Given the description of an element on the screen output the (x, y) to click on. 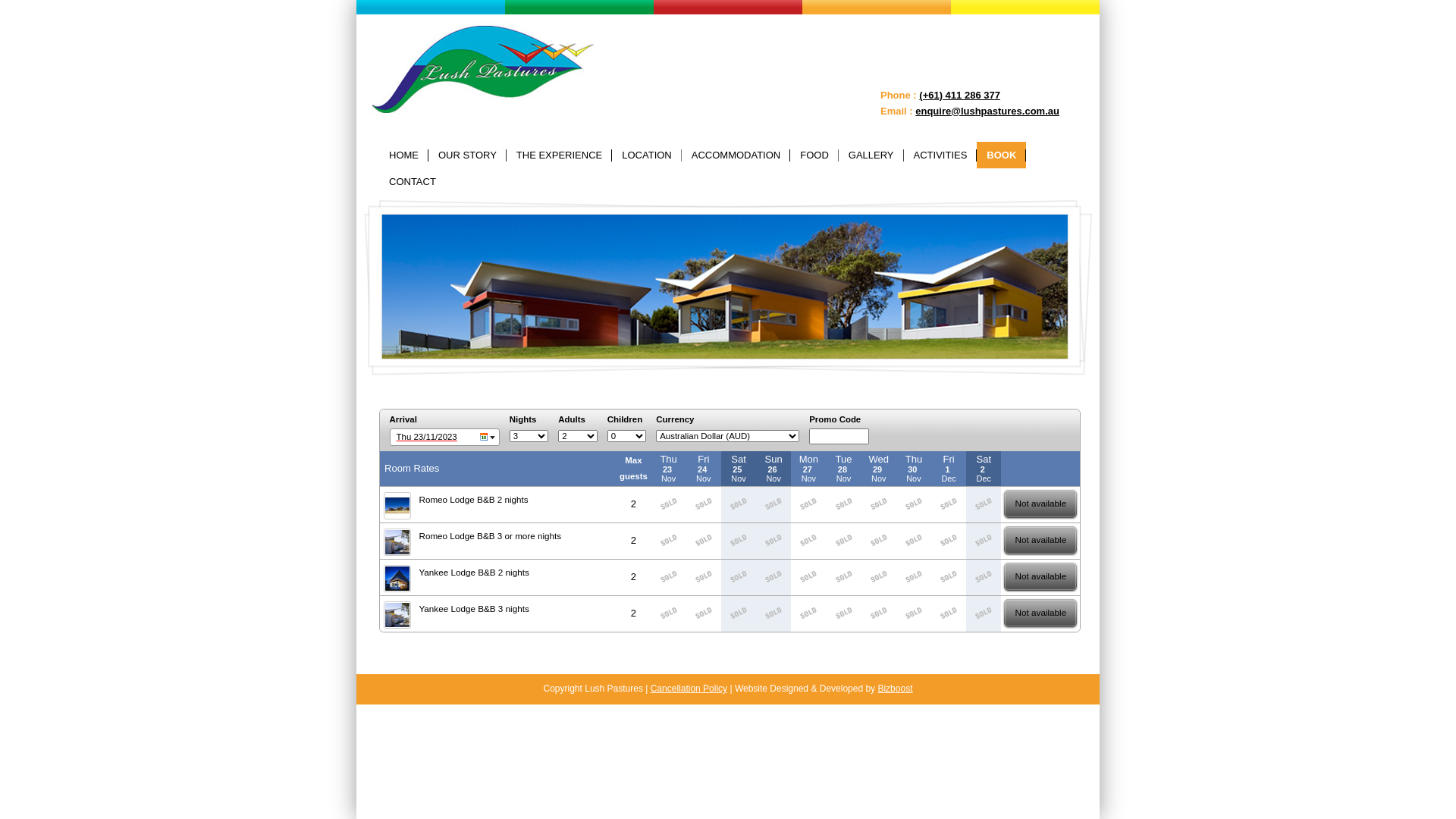
BOOK Element type: text (1001, 155)
CONTACT Element type: text (412, 181)
OUR STORY Element type: text (467, 155)
ACCOMMODATION Element type: text (735, 155)
HOME Element type: text (403, 155)
Not available Element type: text (1040, 576)
enquire@lushpastures.com.au Element type: text (987, 110)
LOCATION Element type: text (646, 155)
Not available Element type: text (1040, 540)
Not available Element type: text (1040, 613)
ACTIVITIES Element type: text (940, 155)
GALLERY Element type: text (870, 155)
Not available Element type: text (1040, 504)
FOOD Element type: text (814, 155)
Thu 23/11/2023 Element type: text (444, 436)
(+61) 411 286 377 Element type: text (959, 94)
Cancellation Policy Element type: text (688, 688)
Bizboost Element type: text (894, 688)
THE EXPERIENCE Element type: text (558, 155)
